Given the description of an element on the screen output the (x, y) to click on. 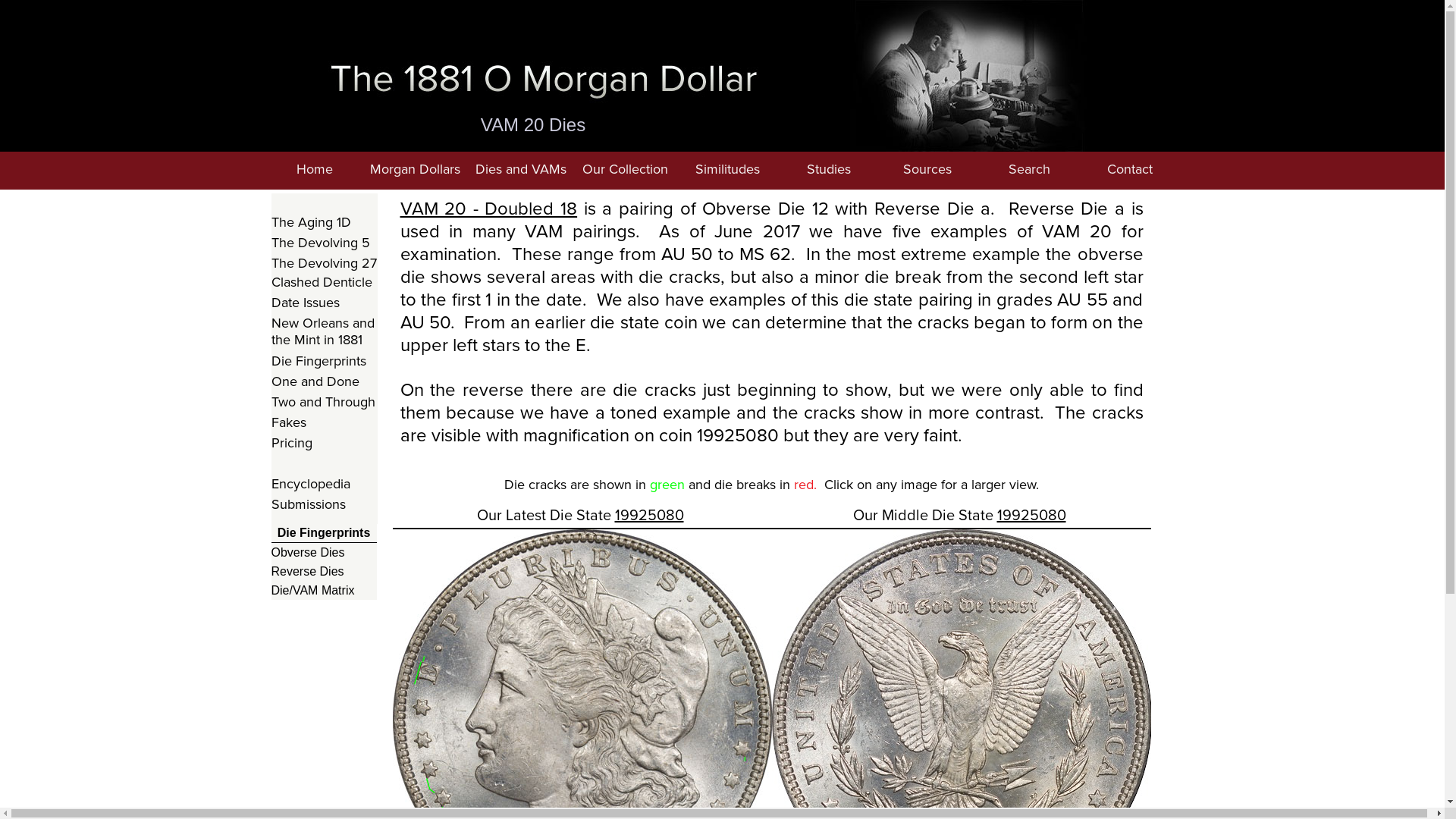
Reverse Dies Element type: text (323, 570)
New Orleans and the Mint in 1881 Element type: text (324, 332)
Home Element type: text (313, 170)
VAM 20 - Doubled 18 Element type: text (488, 207)
Die Fingerprints Element type: text (324, 361)
The Devolving 5 Element type: text (324, 242)
Sources Element type: text (926, 170)
Encyclopedia Element type: text (324, 483)
Die/VAM Matrix Element type: text (323, 589)
Clashed Denticle Element type: text (324, 282)
Date Issues Element type: text (324, 302)
Submissions Element type: text (324, 504)
Search Element type: text (1028, 170)
Fakes Element type: text (324, 422)
Contact Element type: text (1129, 170)
One and Done Element type: text (324, 381)
Studies Element type: text (828, 170)
Similitudes Element type: text (727, 170)
Obverse Dies Element type: text (323, 551)
Two and Through Element type: text (324, 402)
Our Collection Element type: text (623, 170)
The Devolving 27 Element type: text (324, 263)
19925080 Element type: text (648, 514)
Dies and VAMs Element type: text (520, 170)
Morgan Dollars Element type: text (414, 170)
The Aging 1D Element type: text (324, 222)
Pricing Element type: text (324, 443)
19925080 Element type: text (1030, 514)
